Given the description of an element on the screen output the (x, y) to click on. 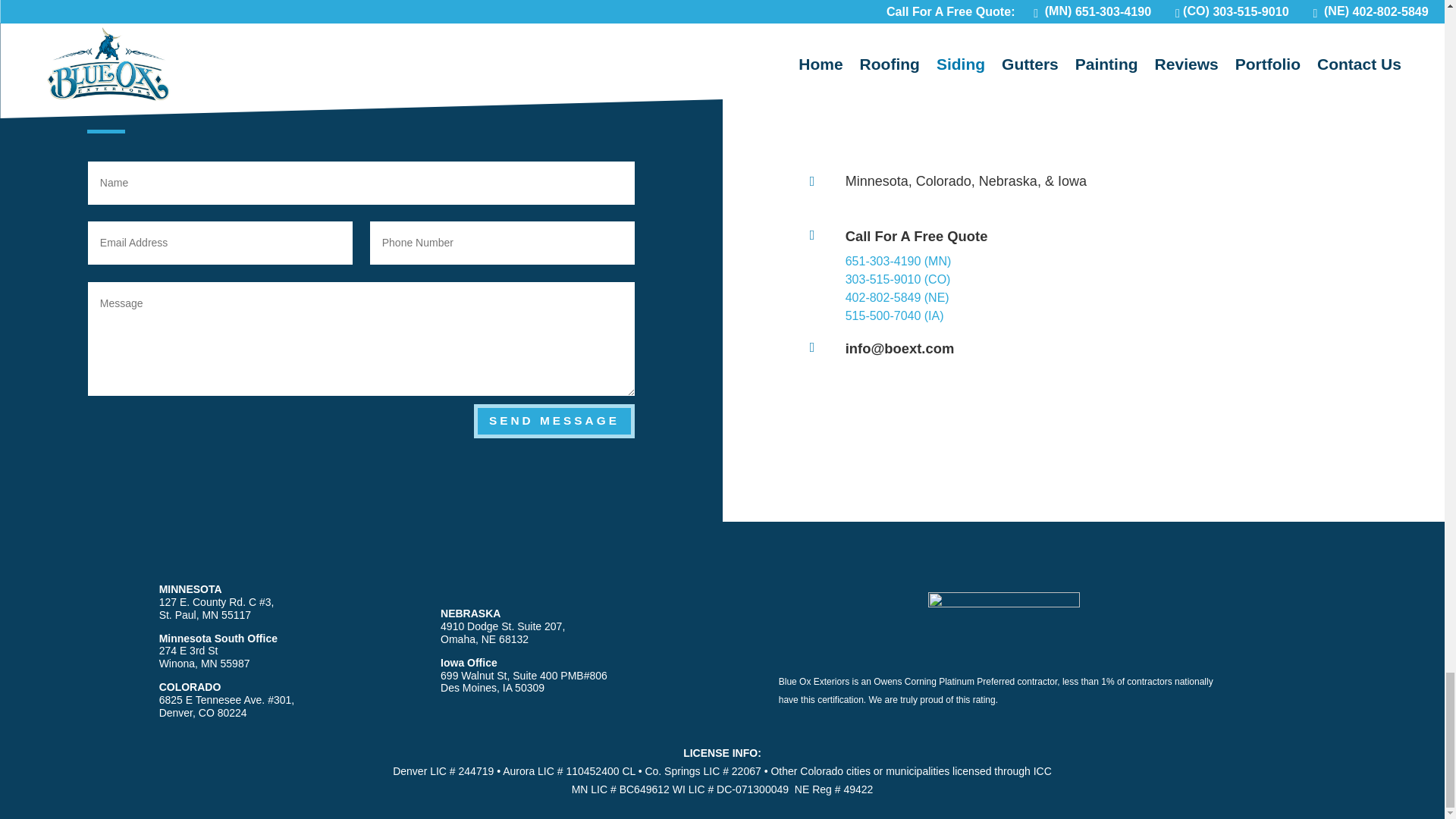
Nebraska (1007, 181)
SEND MESSAGE (554, 421)
Minnesota (876, 181)
Colorado (943, 181)
